Given the description of an element on the screen output the (x, y) to click on. 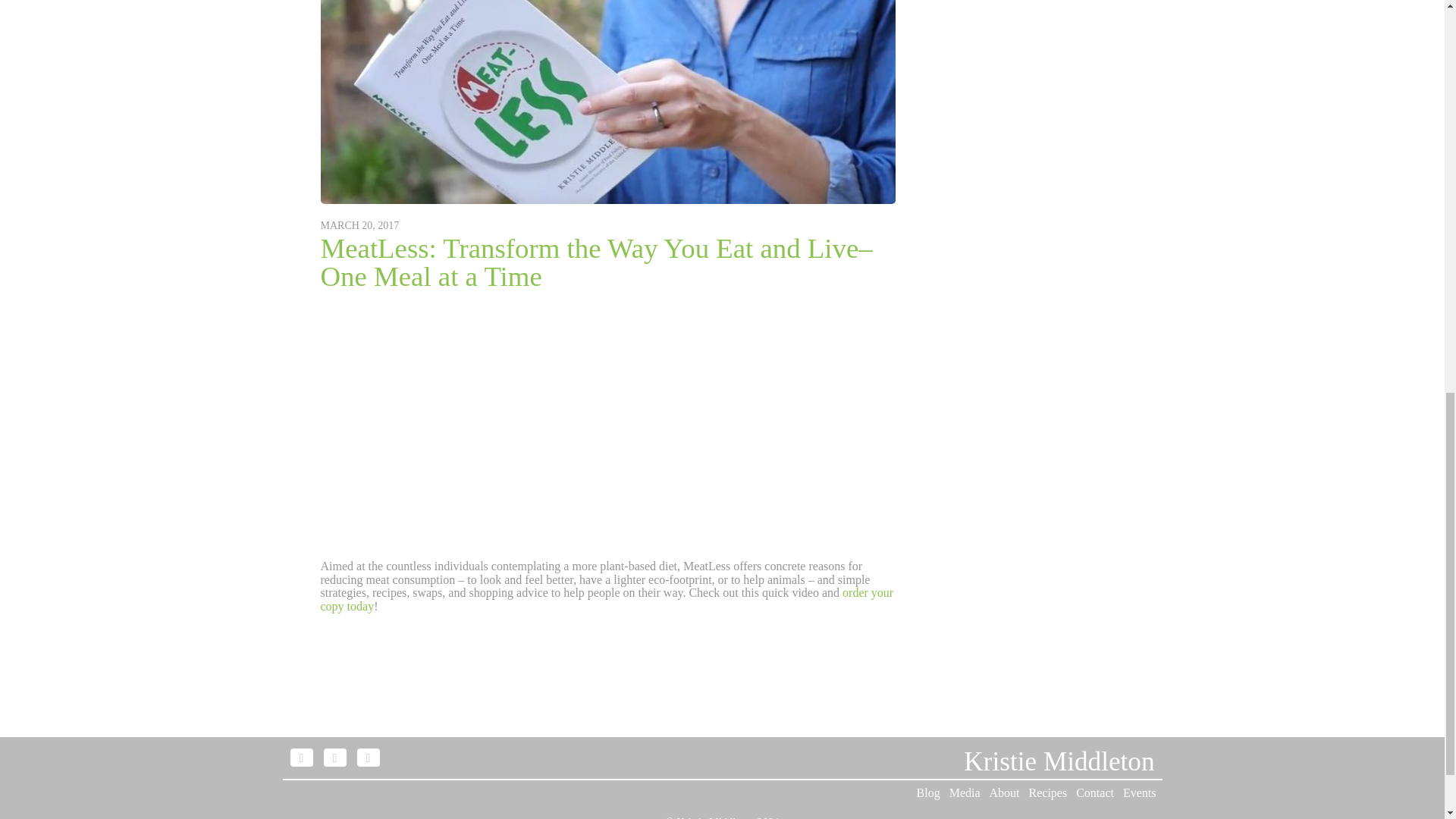
Blog (928, 792)
Events (1139, 792)
Kristie Middleton (715, 817)
About (1005, 792)
Kristie Middleton (1058, 761)
Kristie Middleton (1058, 761)
Media (964, 792)
Contact (1094, 792)
order your copy today (606, 599)
Recipes (1048, 792)
